Given the description of an element on the screen output the (x, y) to click on. 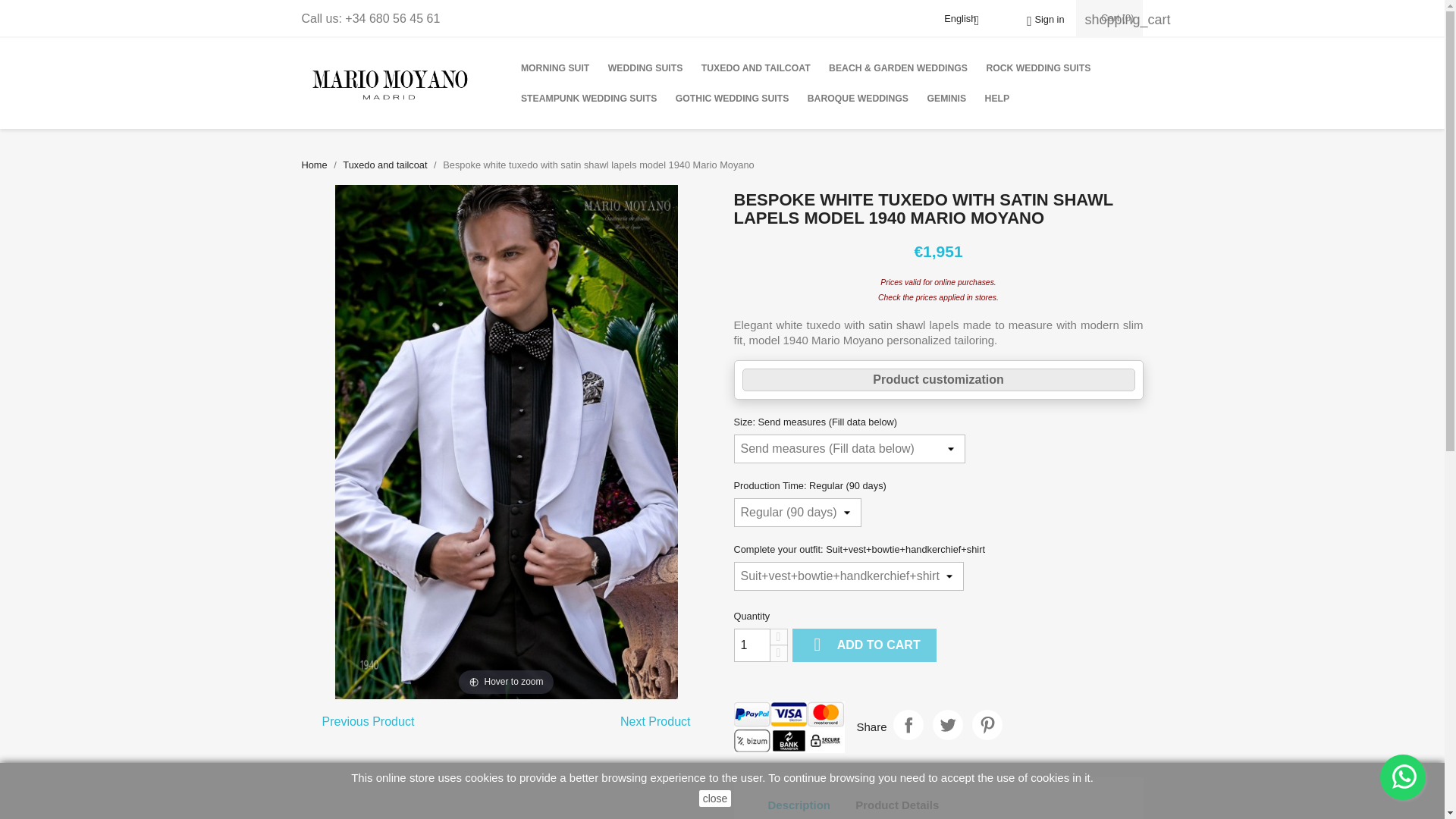
STEAMPUNK WEDDING SUITS (588, 98)
Tuxedo and tailcoat (384, 164)
Next Product (655, 721)
ROCK WEDDING SUITS (1037, 68)
BAROQUE WEDDINGS (857, 98)
Tweet (947, 725)
Home (314, 164)
Share (908, 725)
Pinterest (987, 725)
Pinterest (987, 725)
Share (908, 725)
TUXEDO AND TAILCOAT (756, 68)
Previous Product (368, 721)
